Given the description of an element on the screen output the (x, y) to click on. 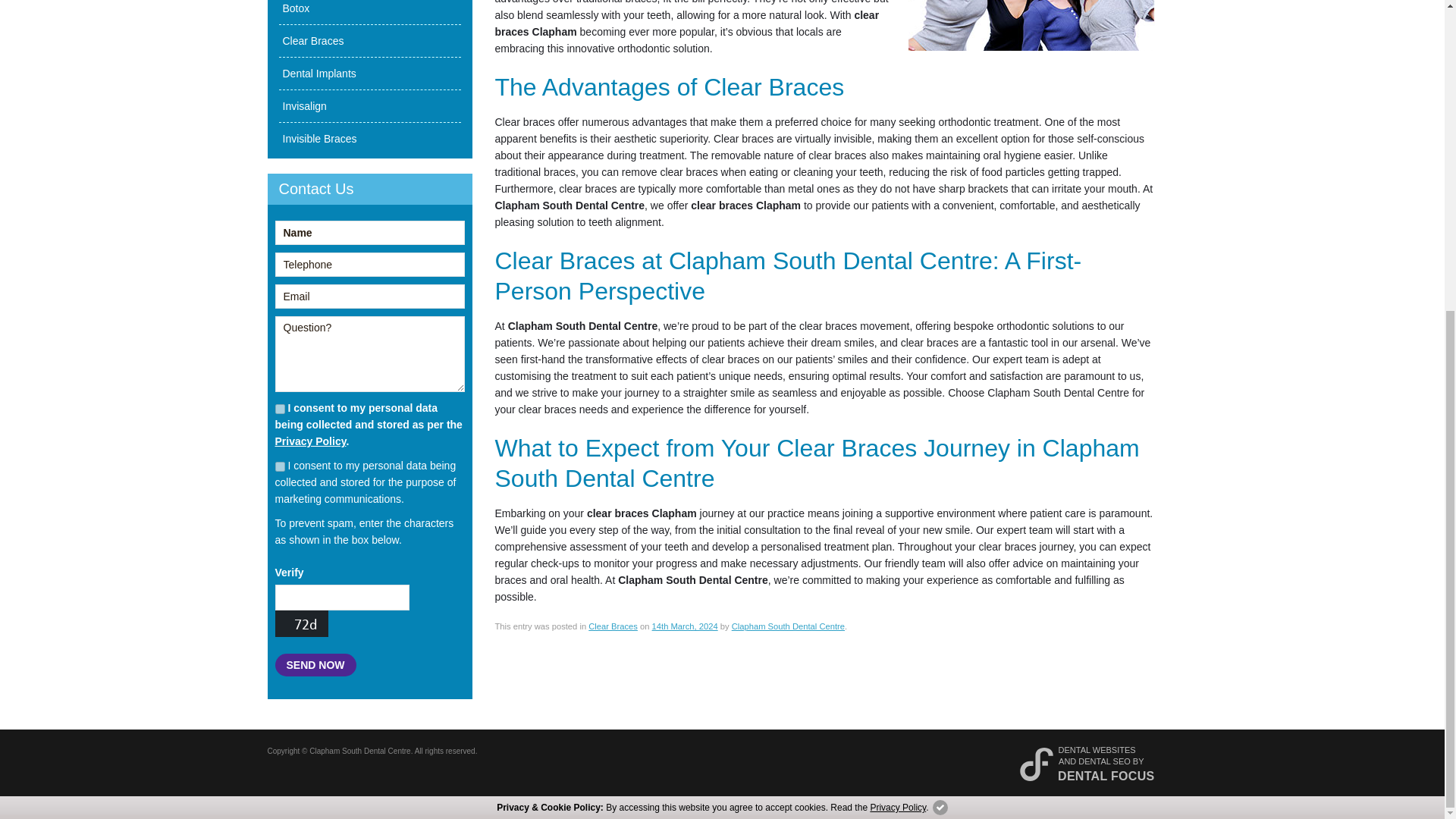
Dental Implants (370, 72)
Invisible Braces (370, 138)
Botox (370, 12)
View all posts by Clapham South Dental Centre (788, 625)
Send Now (315, 664)
DENTAL SEO (1103, 760)
Name (369, 232)
x (940, 313)
Clear Braces (370, 40)
DENTAL FOCUS (1106, 775)
Send Now (315, 664)
Invisalign (370, 105)
Clapham South Dental Centre (788, 625)
14th March, 2024 (684, 625)
Telephone (369, 264)
